Given the description of an element on the screen output the (x, y) to click on. 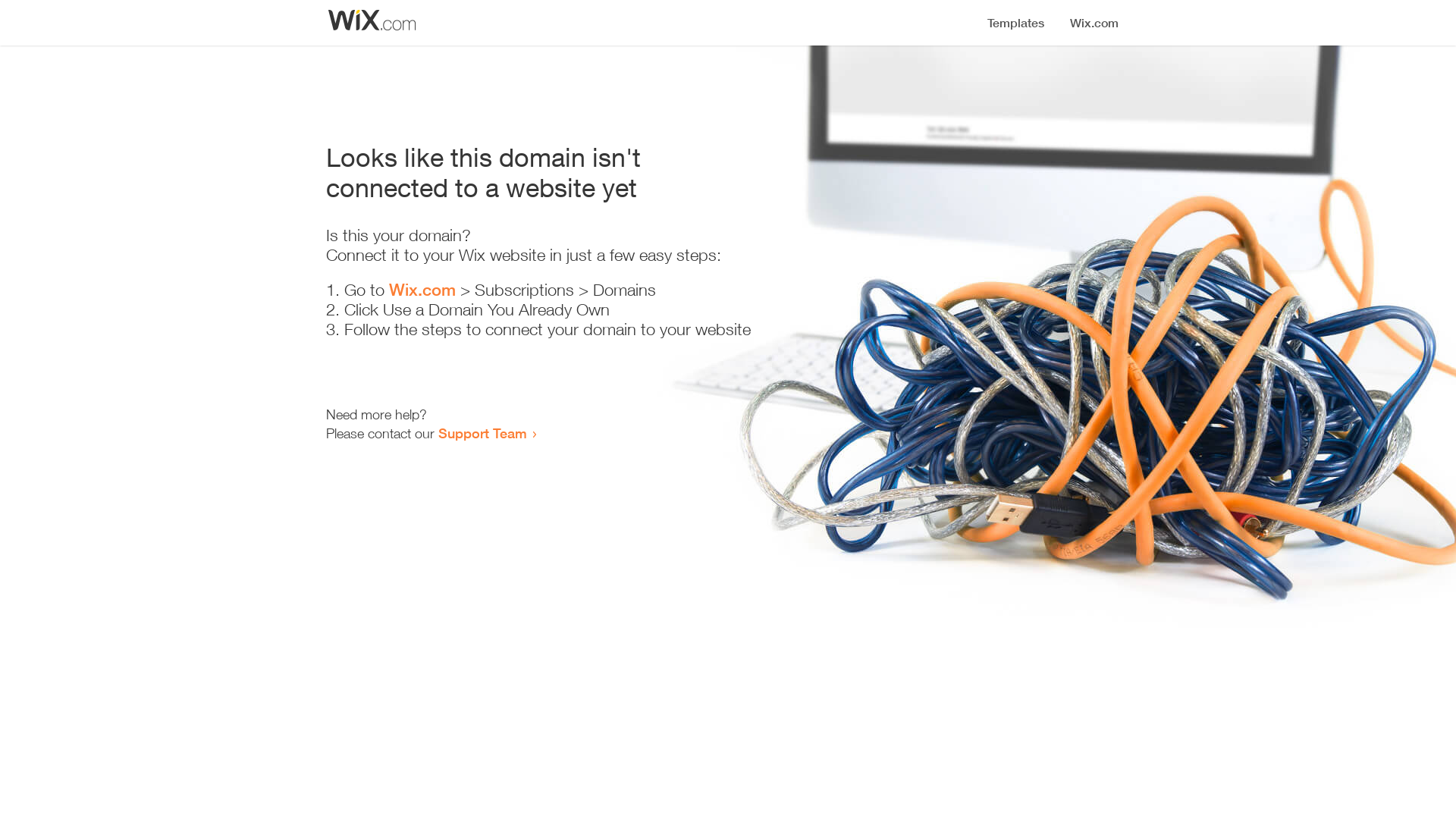
Wix.com Element type: text (422, 289)
Support Team Element type: text (482, 432)
